Given the description of an element on the screen output the (x, y) to click on. 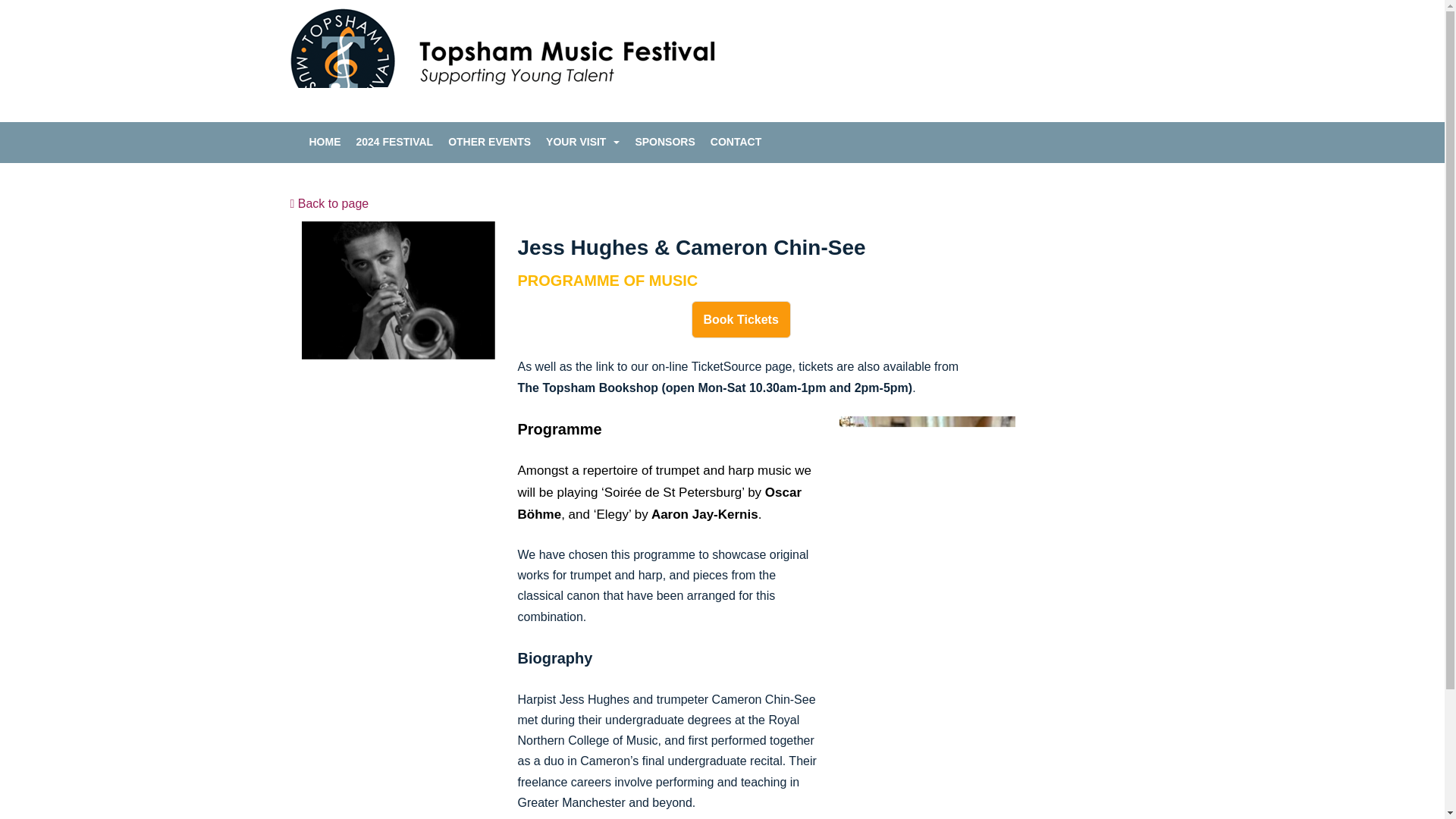
Back to page (328, 203)
OTHER EVENTS (489, 141)
Topsham Music Festival (501, 60)
YOUR VISIT (575, 141)
SPONSORS (664, 141)
2024 FESTIVAL (394, 141)
HOME (324, 141)
CONTACT (735, 141)
Book Tickets (740, 319)
